Given the description of an element on the screen output the (x, y) to click on. 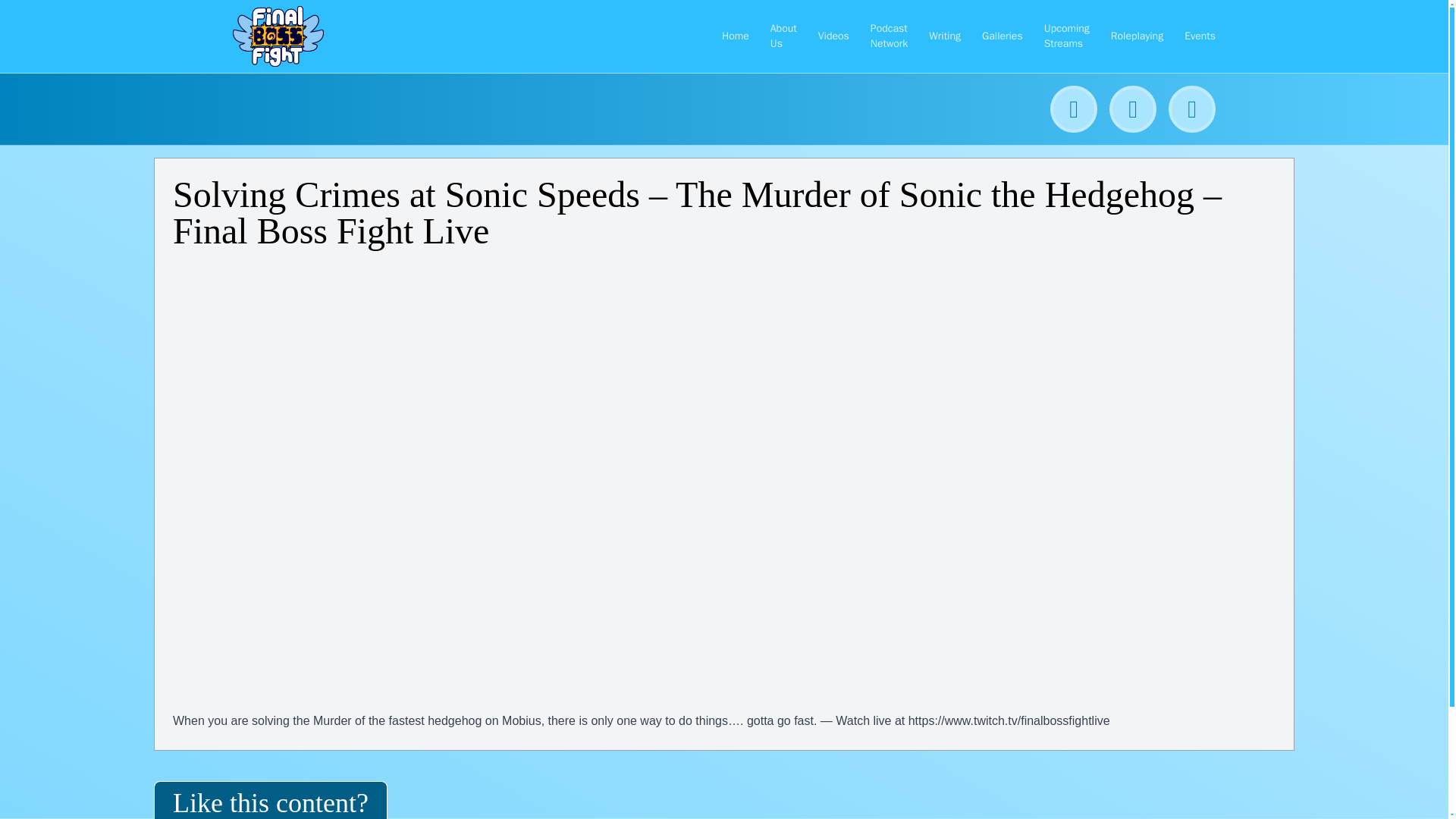
Roleplaying (1136, 35)
